Given the description of an element on the screen output the (x, y) to click on. 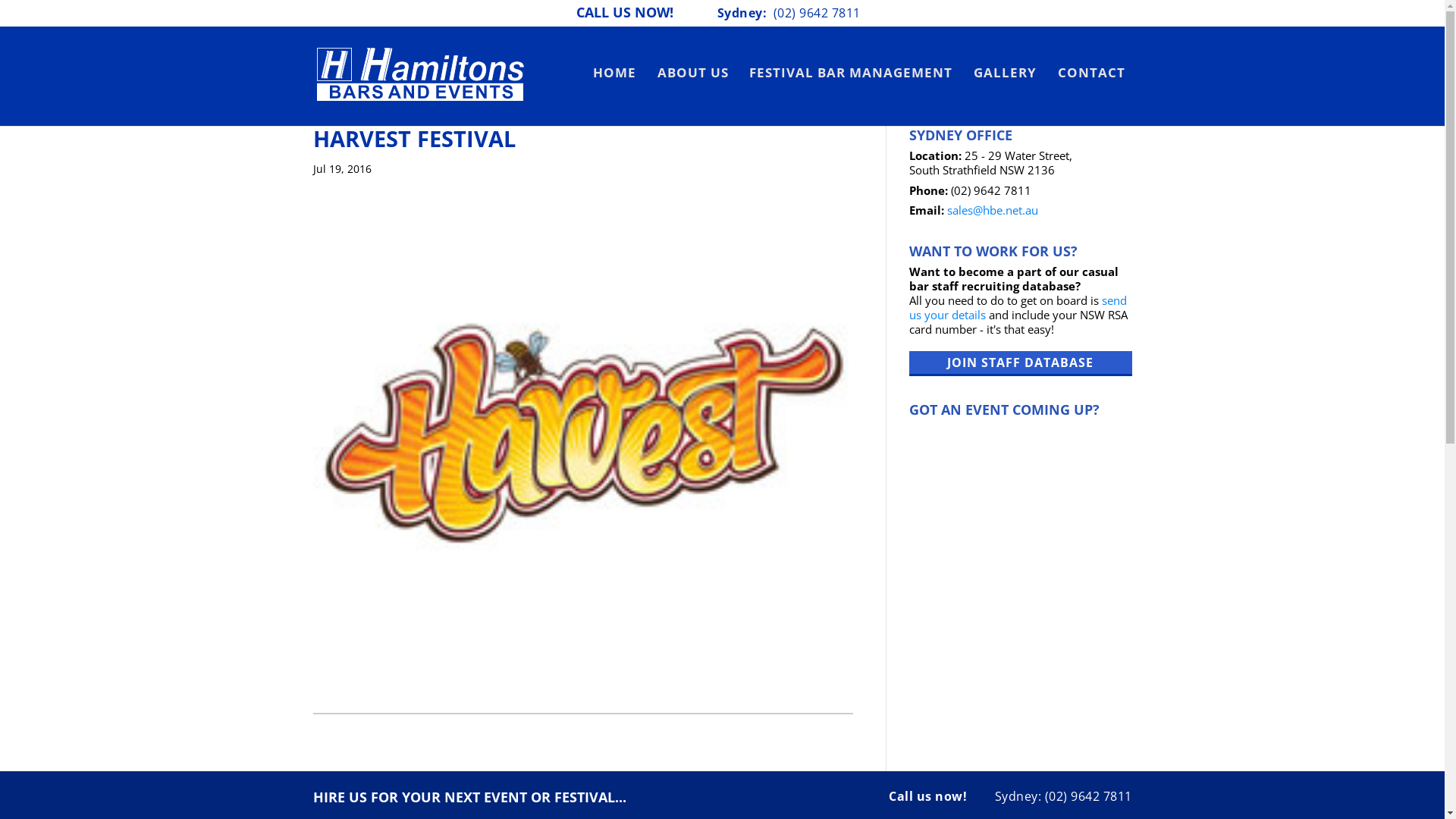
ABOUT US Element type: text (692, 74)
HOME Element type: text (614, 74)
FESTIVAL BAR MANAGEMENT Element type: text (851, 74)
send us your details Element type: text (1017, 307)
Sydney: (02) 9642 7811 Element type: text (1063, 795)
GALLERY Element type: text (1005, 74)
JOIN STAFF DATABASE Element type: text (1019, 363)
sales@hbe.net.au Element type: text (991, 209)
(02) 9642 7811 Element type: text (816, 12)
CONTACT Element type: text (1091, 74)
